Given the description of an element on the screen output the (x, y) to click on. 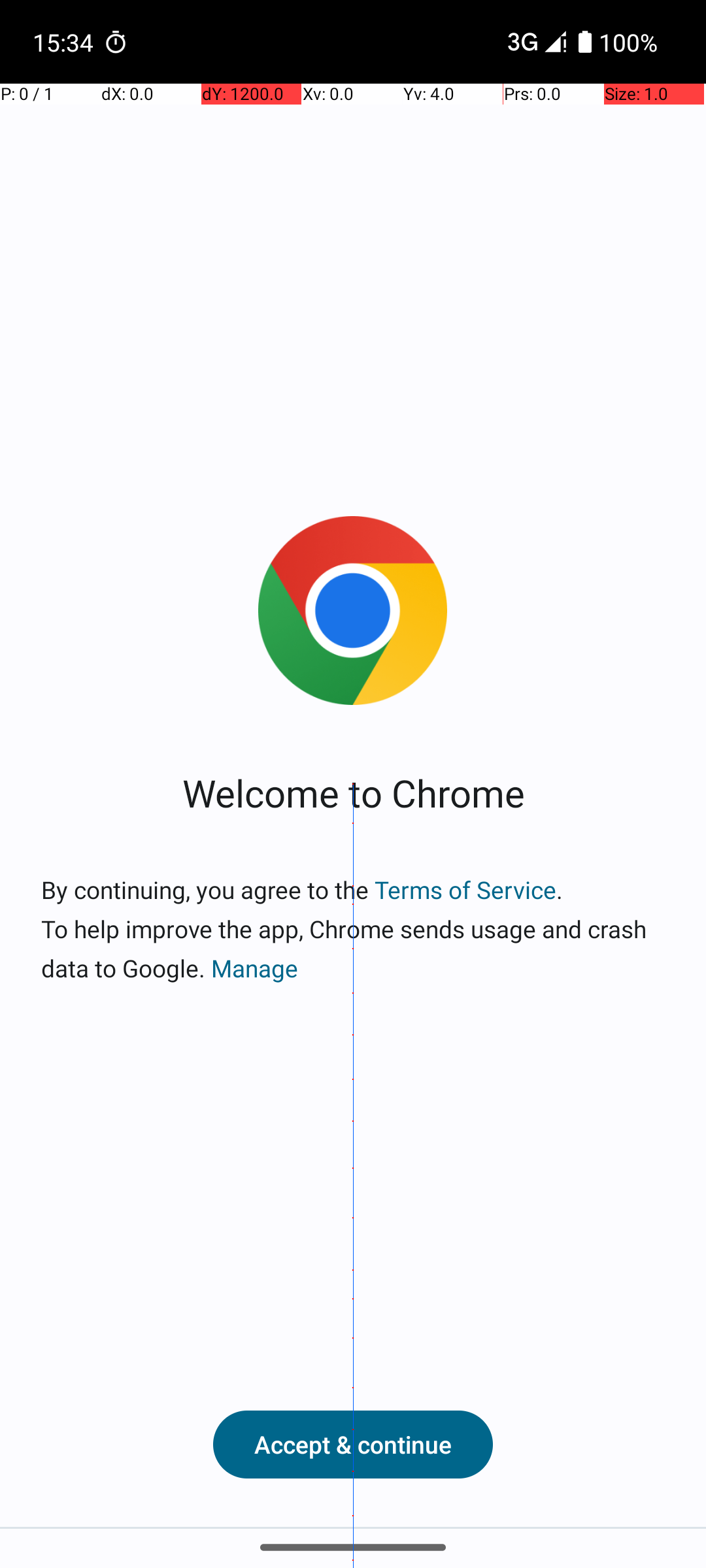
Accept & continue Element type: android.widget.Button (352, 1444)
By continuing, you agree to the Terms of Service.
To help improve the app, Chrome sends usage and crash data to Google. Manage Element type: android.widget.TextView (352, 928)
